Given the description of an element on the screen output the (x, y) to click on. 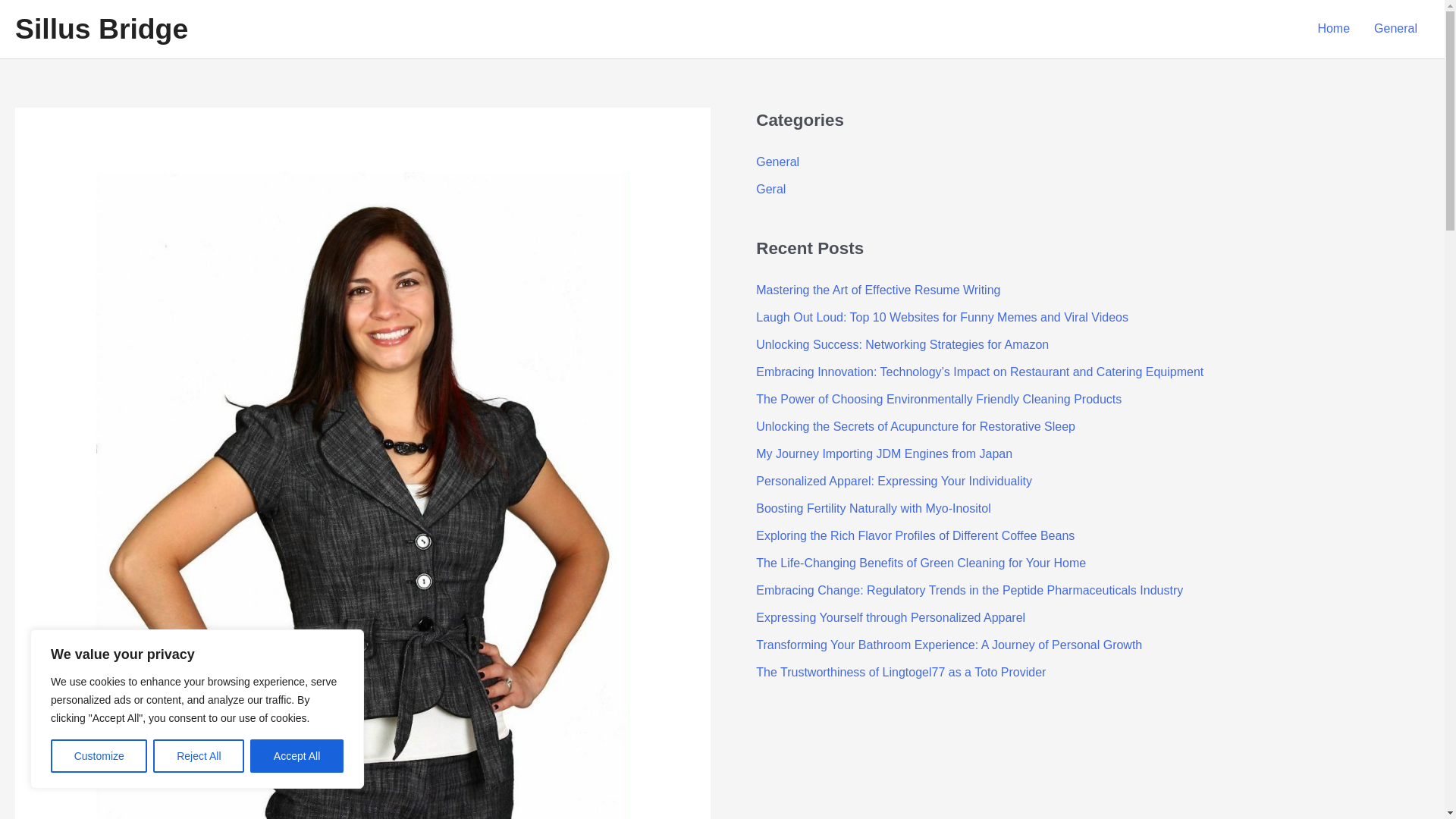
Geral (770, 188)
Sillus Bridge (100, 29)
Home (1332, 28)
Customize (98, 756)
Mastering the Art of Effective Resume Writing (877, 289)
Reject All (198, 756)
General (1395, 28)
Unlocking Success: Networking Strategies for Amazon (901, 344)
